Given the description of an element on the screen output the (x, y) to click on. 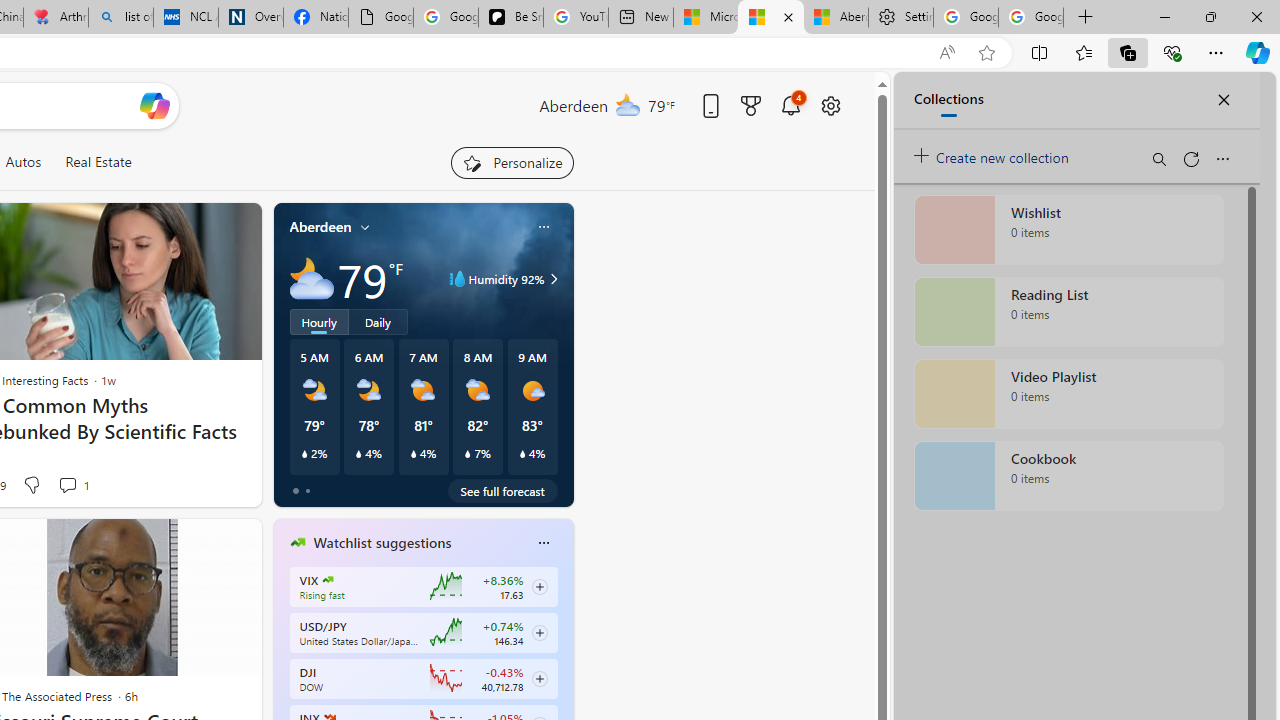
Aberdeen (320, 227)
tab-1 (306, 490)
tab-0 (295, 490)
See full forecast (502, 490)
Autos (22, 161)
Mostly cloudy (311, 278)
Google Analytics Opt-out Browser Add-on Download Page (381, 17)
Hide this story (201, 542)
NCL Adult Asthma Inhaler Choice Guideline (185, 17)
View comments 1 Comment (73, 484)
